Given the description of an element on the screen output the (x, y) to click on. 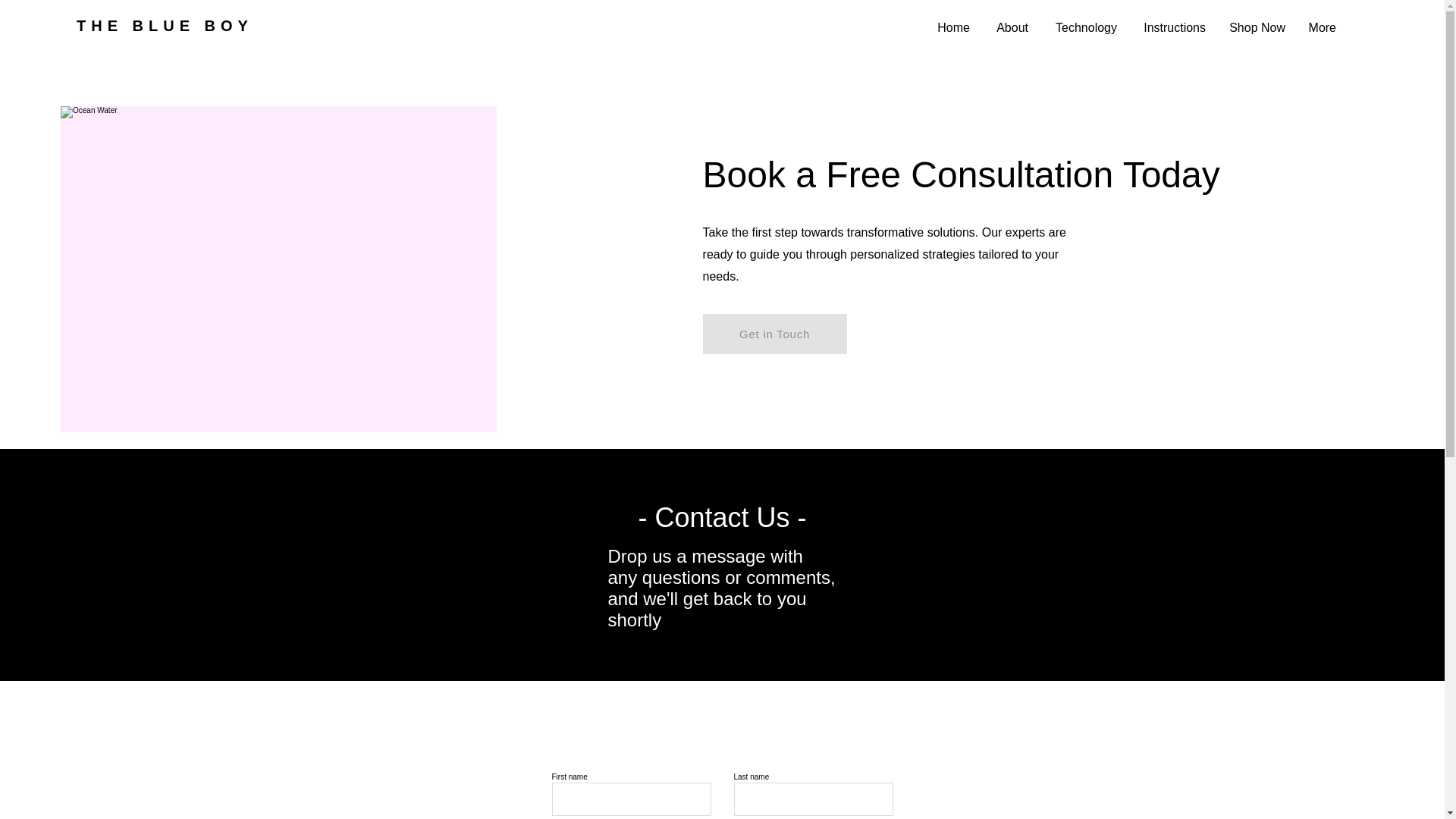
Shop Now (1257, 27)
THE BLUE BOY (165, 25)
About (1010, 27)
Get in Touch (775, 333)
Technology (1083, 27)
Instructions (1172, 27)
Home (953, 27)
